Given the description of an element on the screen output the (x, y) to click on. 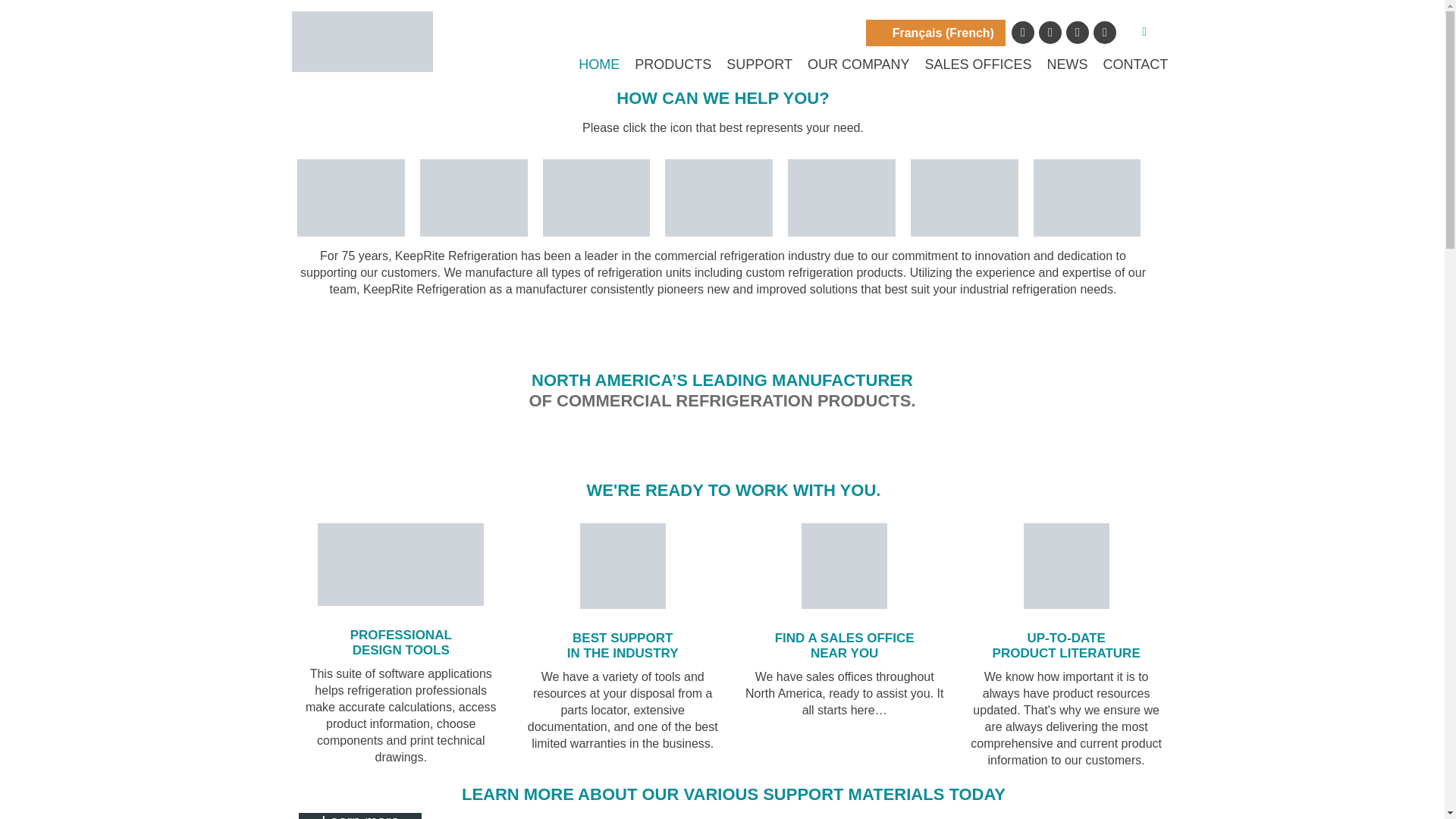
SUPPORT (759, 63)
PRODUCTS (673, 63)
LinkedIn (1077, 32)
HOME (598, 63)
Facebook (1022, 32)
YouTube (1050, 32)
Instagram (1104, 32)
KeepRite Refrigeration (362, 41)
